Given the description of an element on the screen output the (x, y) to click on. 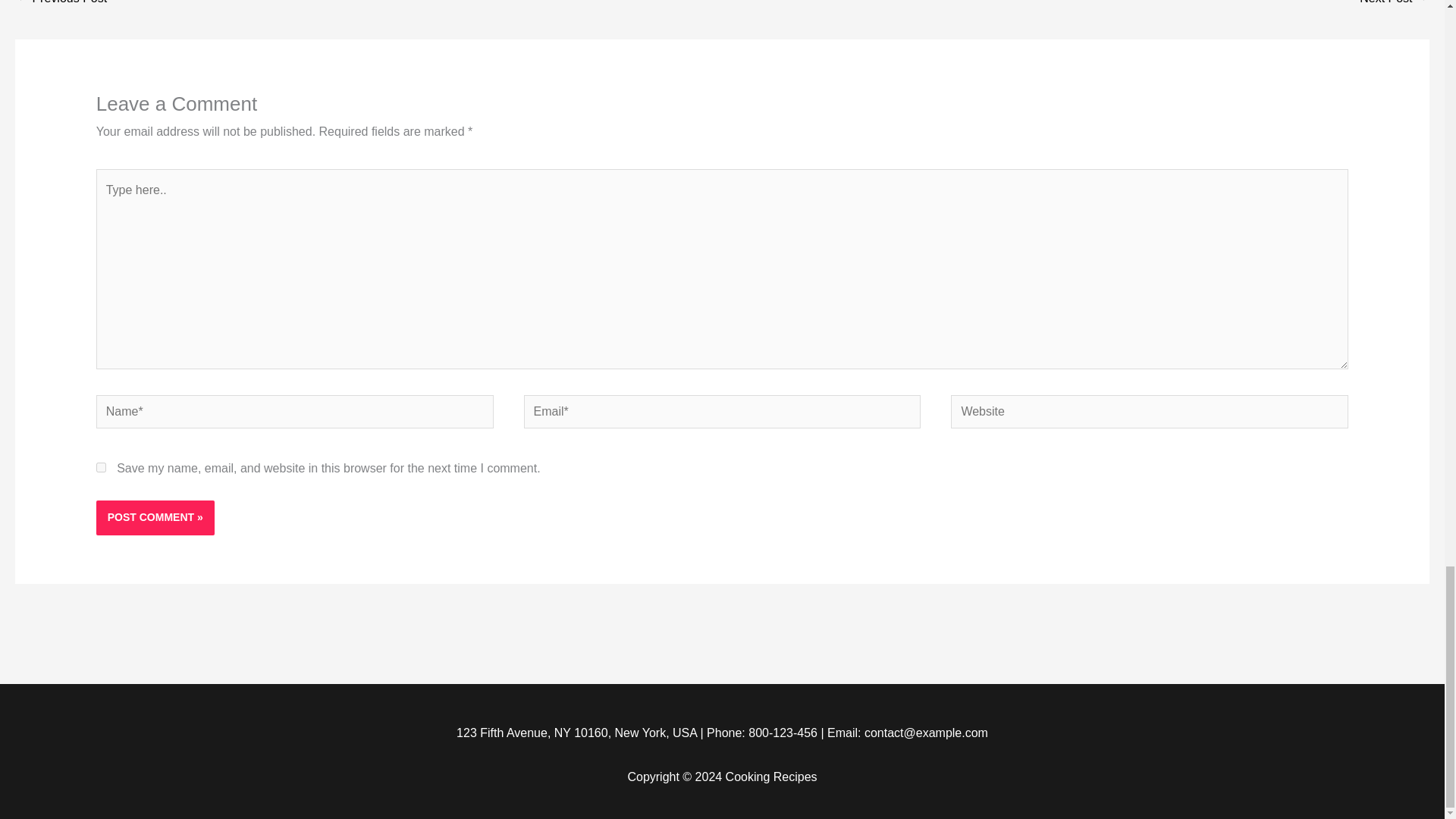
Homemade donuts (1393, 6)
easy Mexican Taco Lasagna (61, 6)
yes (101, 467)
